Given the description of an element on the screen output the (x, y) to click on. 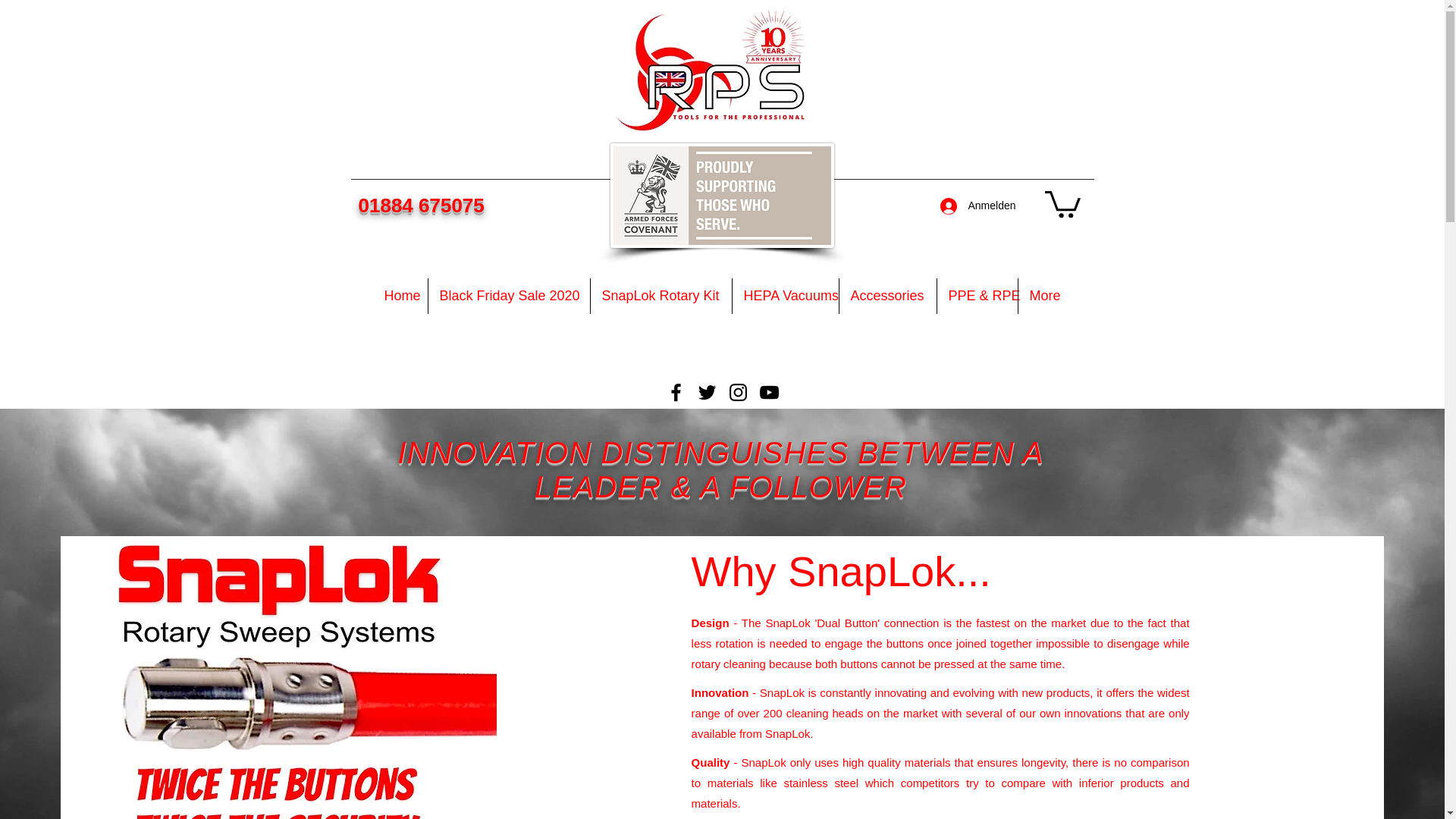
01884 675075 (420, 205)
Home (400, 295)
Black Friday Sale 2020 (508, 295)
Anmelden (978, 205)
